Given the description of an element on the screen output the (x, y) to click on. 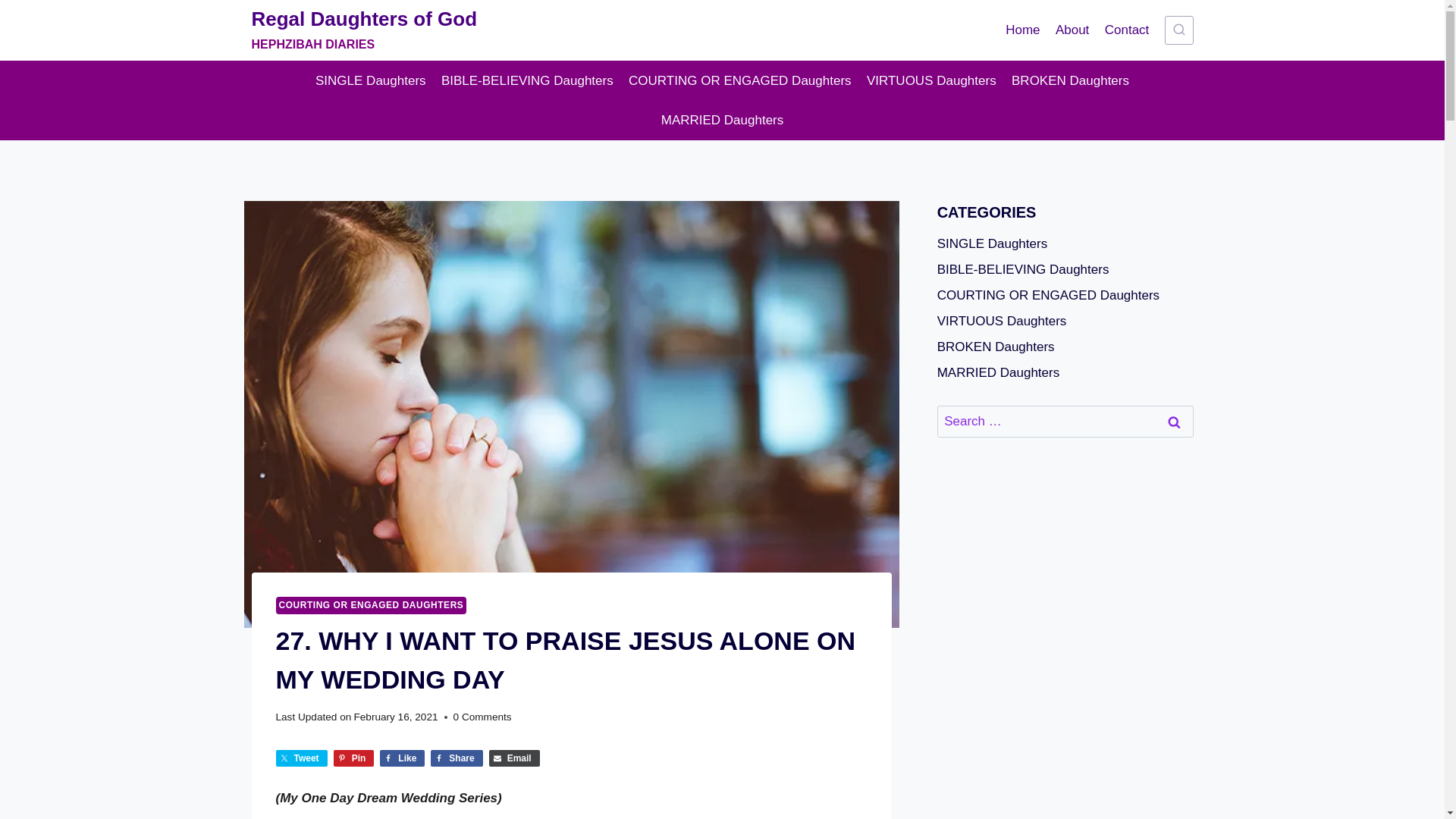
Home (1022, 30)
Share on Facebook (455, 758)
COURTING OR ENGAGED Daughters (740, 80)
SINGLE Daughters (370, 80)
Share (455, 758)
VIRTUOUS Daughters (931, 80)
Share on Pinterest (353, 758)
Tweet (301, 758)
COURTING OR ENGAGED DAUGHTERS (371, 605)
0 Comments (482, 717)
Email (364, 30)
Share on Twitter (514, 758)
About (301, 758)
BROKEN Daughters (1072, 30)
